Given the description of an element on the screen output the (x, y) to click on. 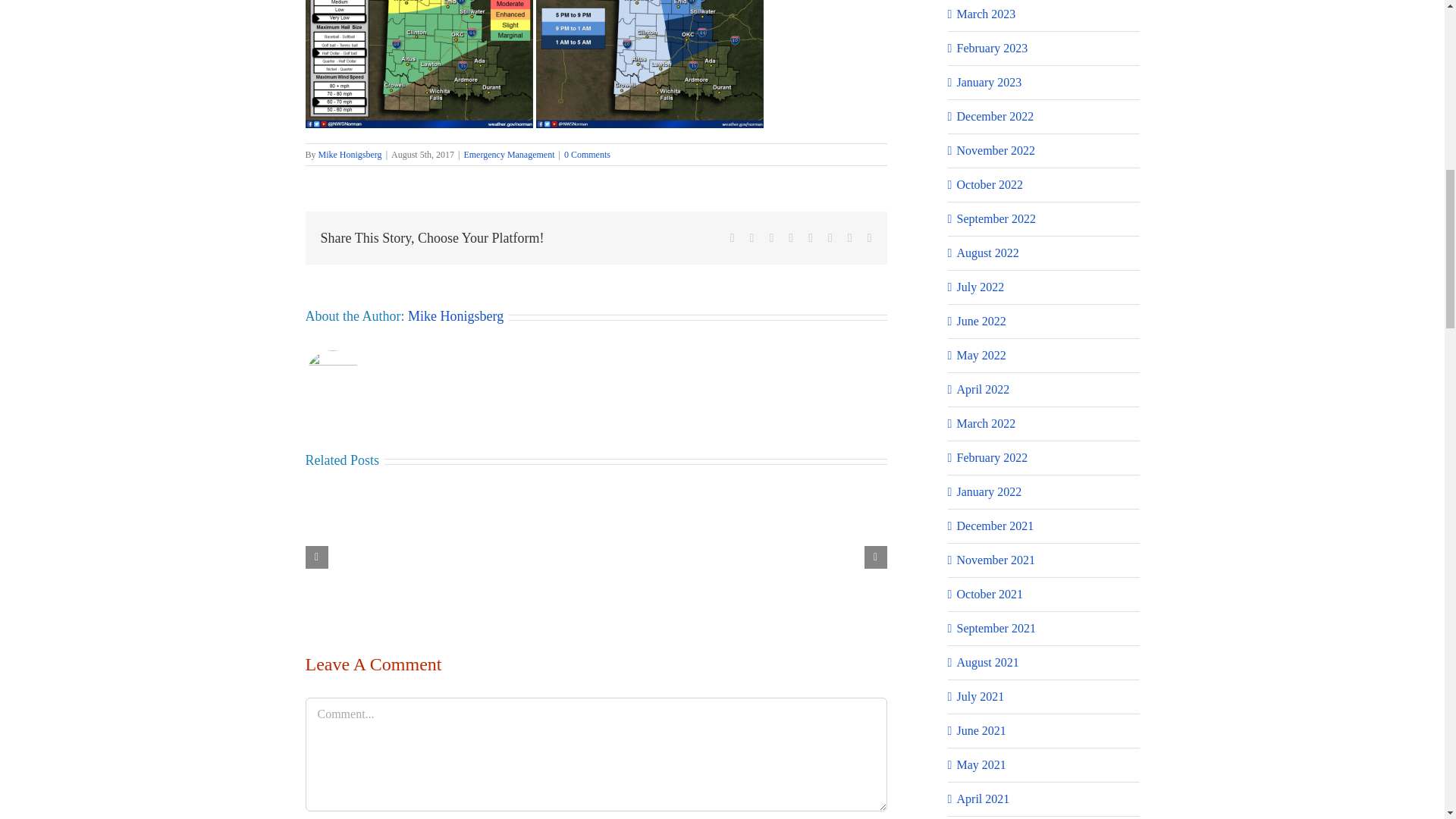
Posts by Mike Honigsberg (455, 315)
Email (869, 237)
Facebook (732, 237)
LinkedIn (791, 237)
Posts by Mike Honigsberg (349, 154)
X (751, 237)
Pinterest (830, 237)
Vk (849, 237)
Tumblr (810, 237)
Reddit (770, 237)
